Given the description of an element on the screen output the (x, y) to click on. 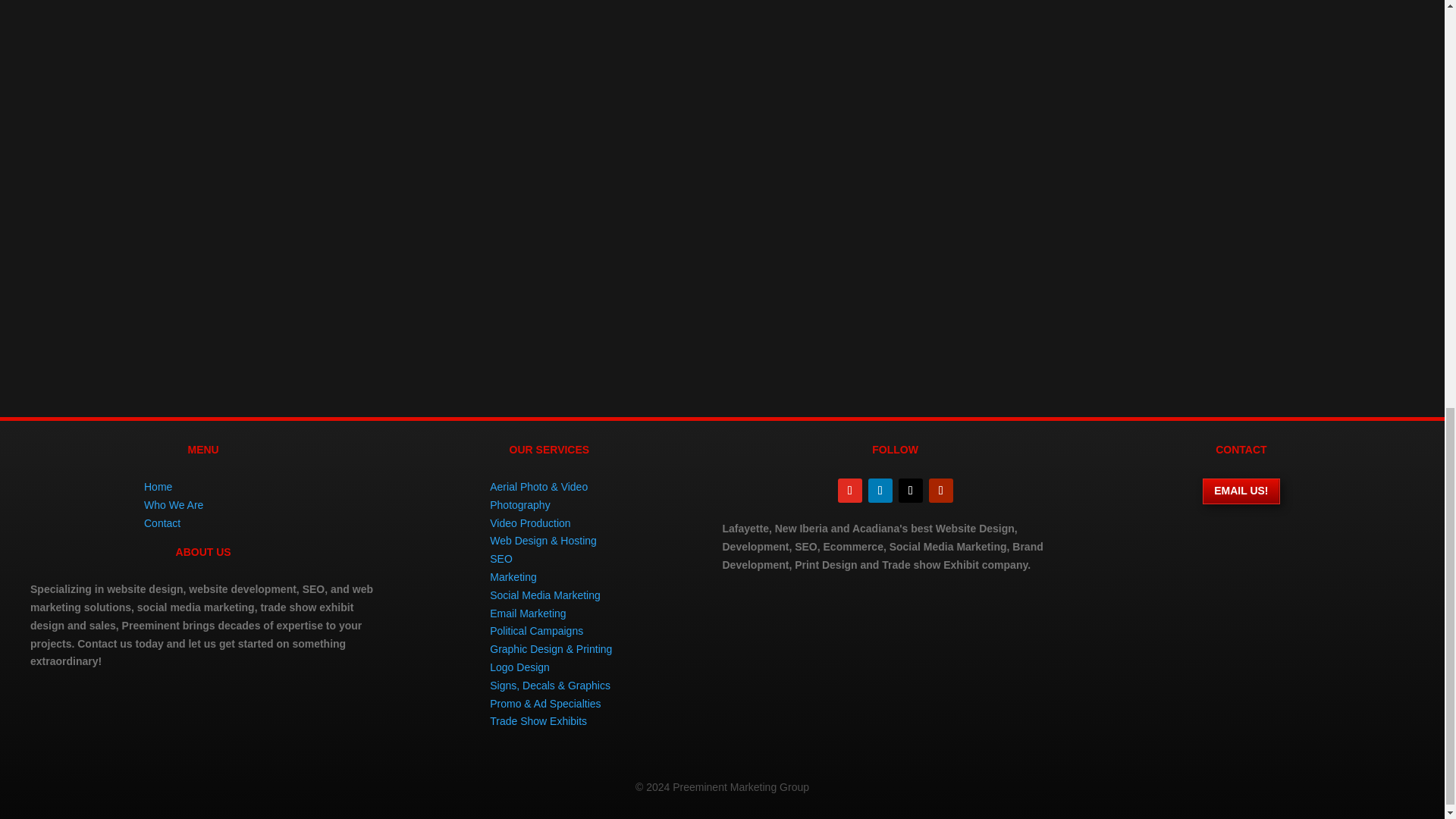
Political Campaigns (536, 630)
Photography (519, 504)
Video Production (529, 522)
Follow on LinkedIn (879, 490)
Home (157, 486)
SEO (500, 558)
Social Media Marketing (544, 594)
Who We Are (173, 504)
Contact (162, 522)
Marketing (512, 576)
Email Marketing (527, 613)
Follow on Youtube (940, 490)
Follow on X (910, 490)
Follow on Facebook (849, 490)
